Given the description of an element on the screen output the (x, y) to click on. 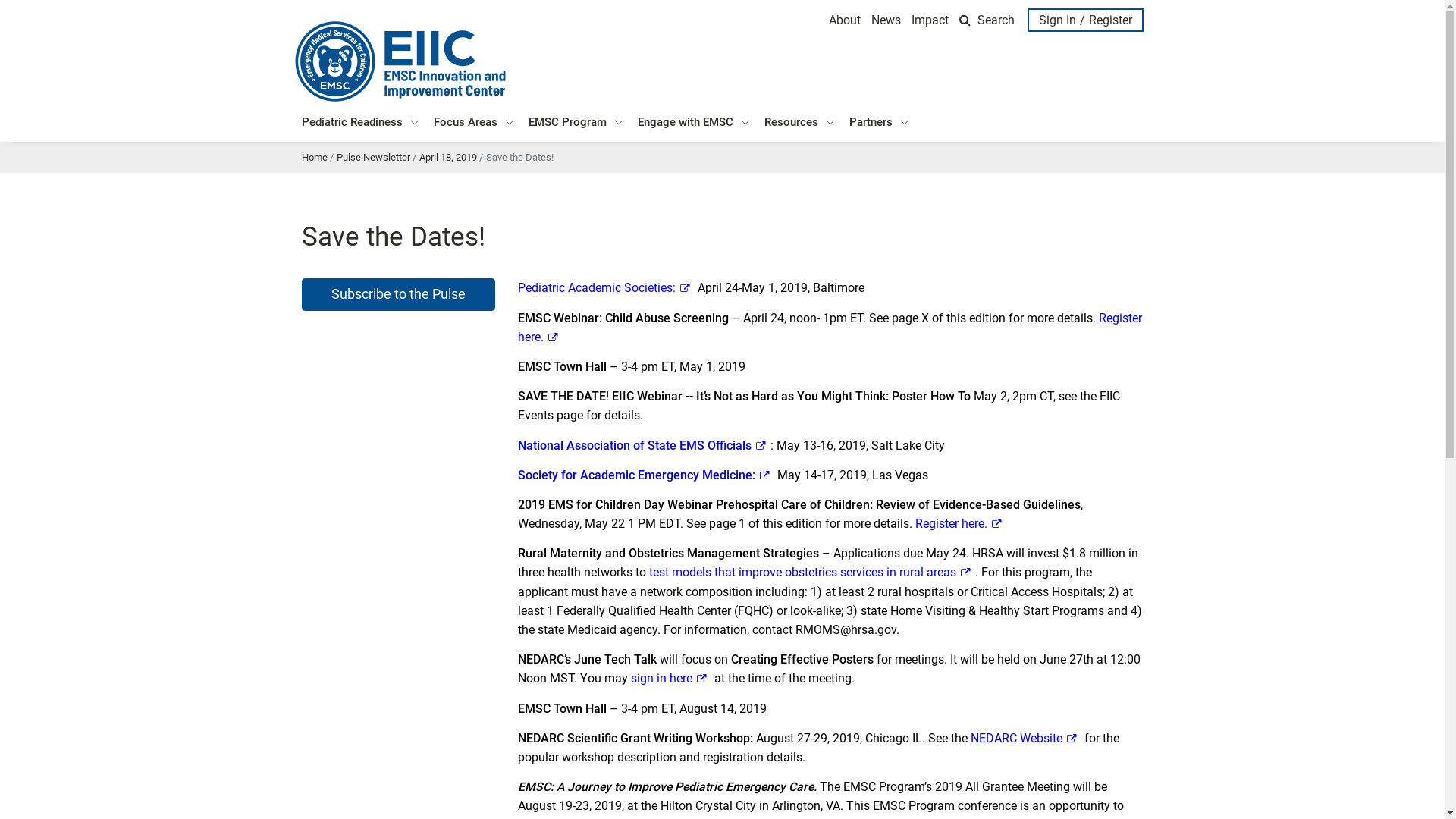
Sign In Element type: text (1054, 19)
Impact Element type: text (929, 19)
Home Element type: text (314, 157)
EMSC Program Element type: text (574, 122)
Pediatric Academic Societies: Element type: text (605, 287)
Register here. Element type: text (829, 327)
Register here. Element type: text (960, 523)
April 18, 2019 Element type: text (447, 157)
Engage with EMSC Element type: text (692, 122)
Register Element type: text (1113, 19)
Focus Areas Element type: text (473, 122)
test models that improve obstetrics services in rural areas Element type: text (812, 571)
Partners Element type: text (878, 122)
Pediatric Readiness Element type: text (360, 122)
Pulse Newsletter Element type: text (373, 157)
sign in here Element type: text (671, 678)
NEDARC Website Element type: text (1026, 738)
News Element type: text (886, 19)
National Association of State EMS Officials Element type: text (643, 445)
Search Element type: text (986, 19)
Resources Element type: text (798, 122)
Subscribe to the Pulse Element type: text (398, 294)
About Element type: text (844, 19)
Society for Academic Emergency Medicine: Element type: text (645, 474)
